Given the description of an element on the screen output the (x, y) to click on. 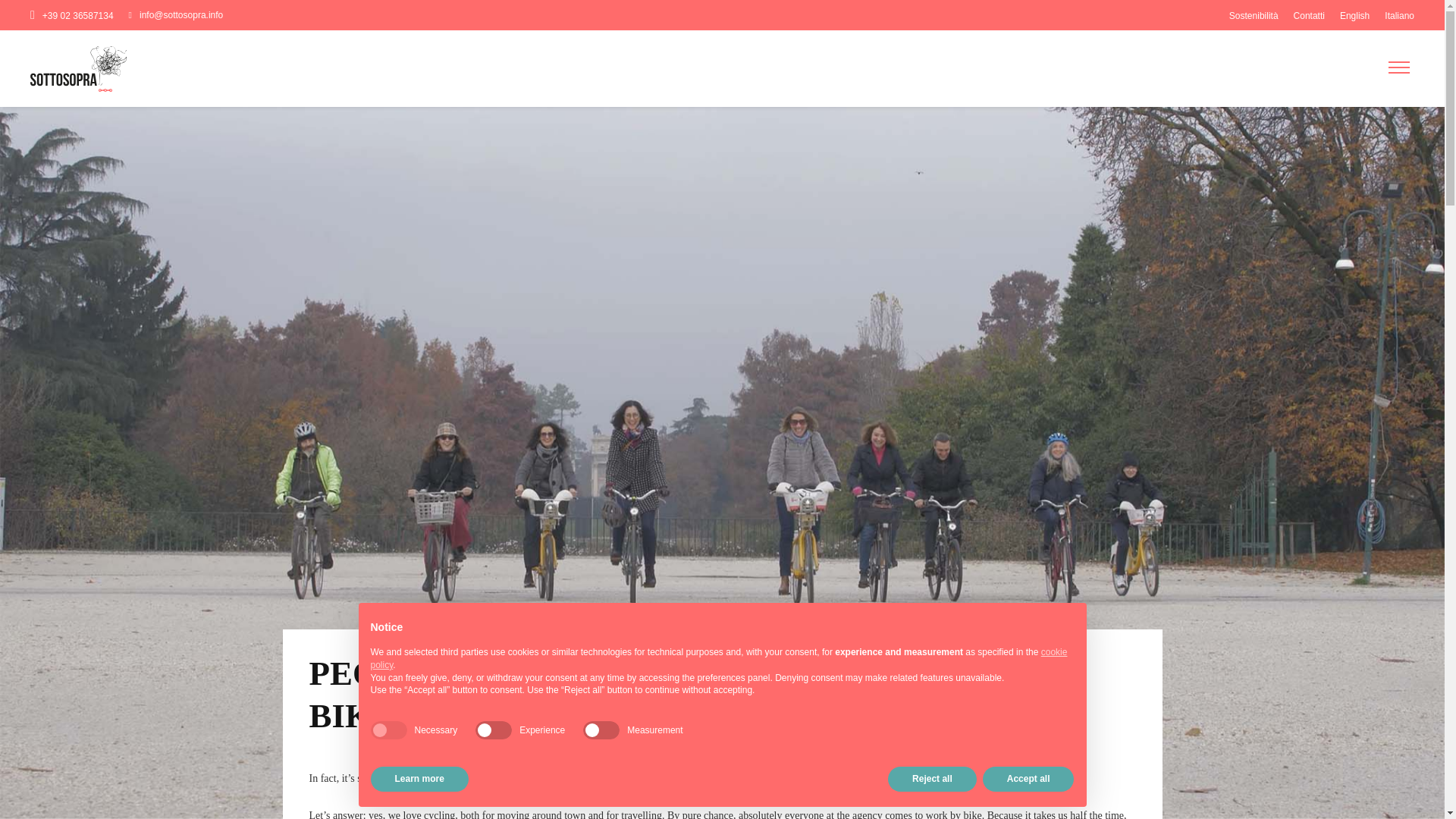
false (494, 730)
Italiano (1398, 15)
true (387, 730)
false (601, 730)
Contatti (1309, 15)
English (1354, 15)
